Given the description of an element on the screen output the (x, y) to click on. 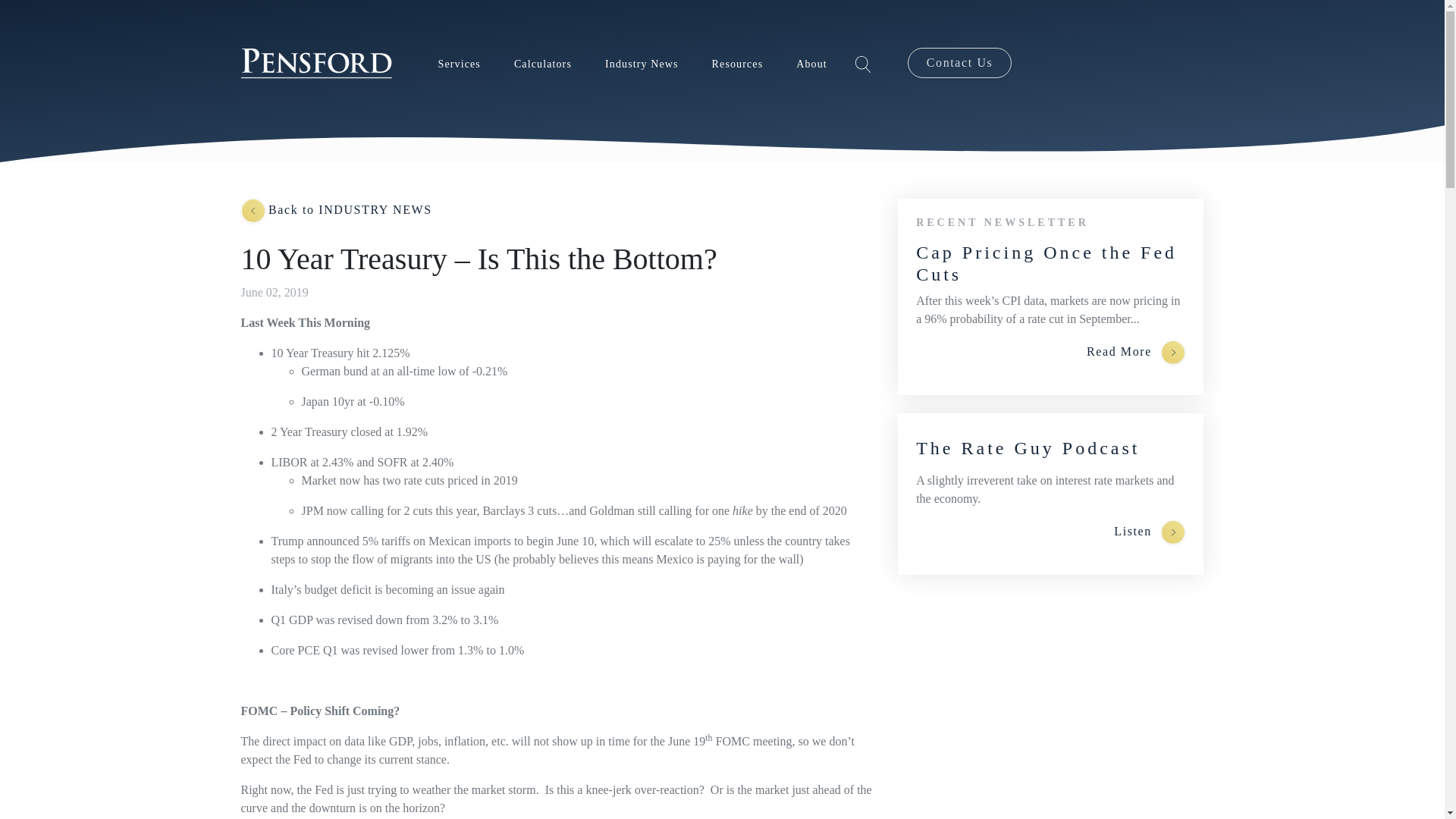
Resources (736, 64)
About (811, 64)
Read More (1136, 352)
Industry News (641, 64)
Pensford, LLC (317, 63)
Back to INDUSTRY NEWS (336, 210)
Listen (1149, 532)
Services (459, 64)
Contact Us (959, 62)
Contact Us (959, 62)
Calculators (542, 64)
